Given the description of an element on the screen output the (x, y) to click on. 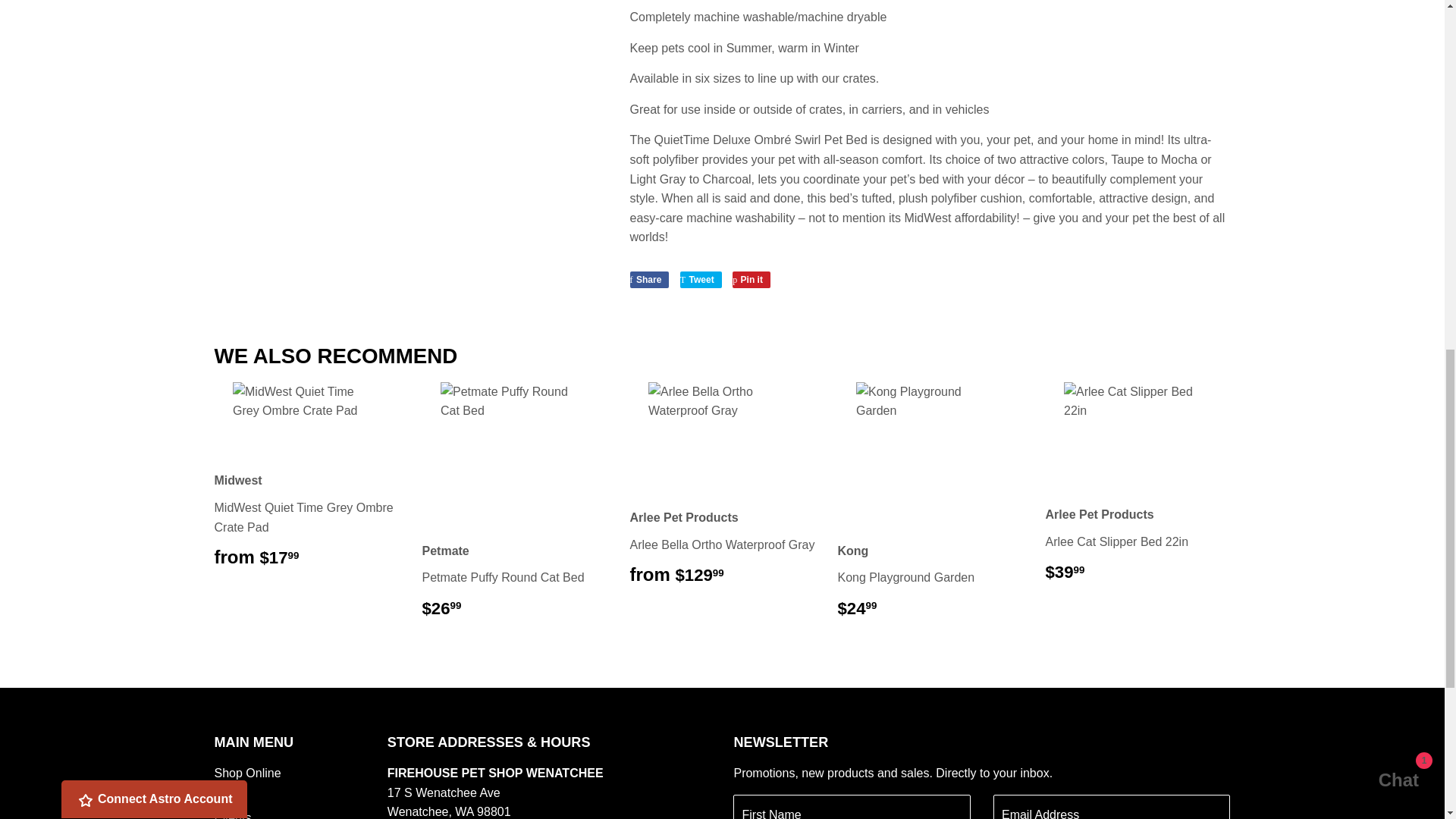
Pin on Pinterest (751, 279)
Tweet on Twitter (700, 279)
Share on Facebook (648, 279)
